Given the description of an element on the screen output the (x, y) to click on. 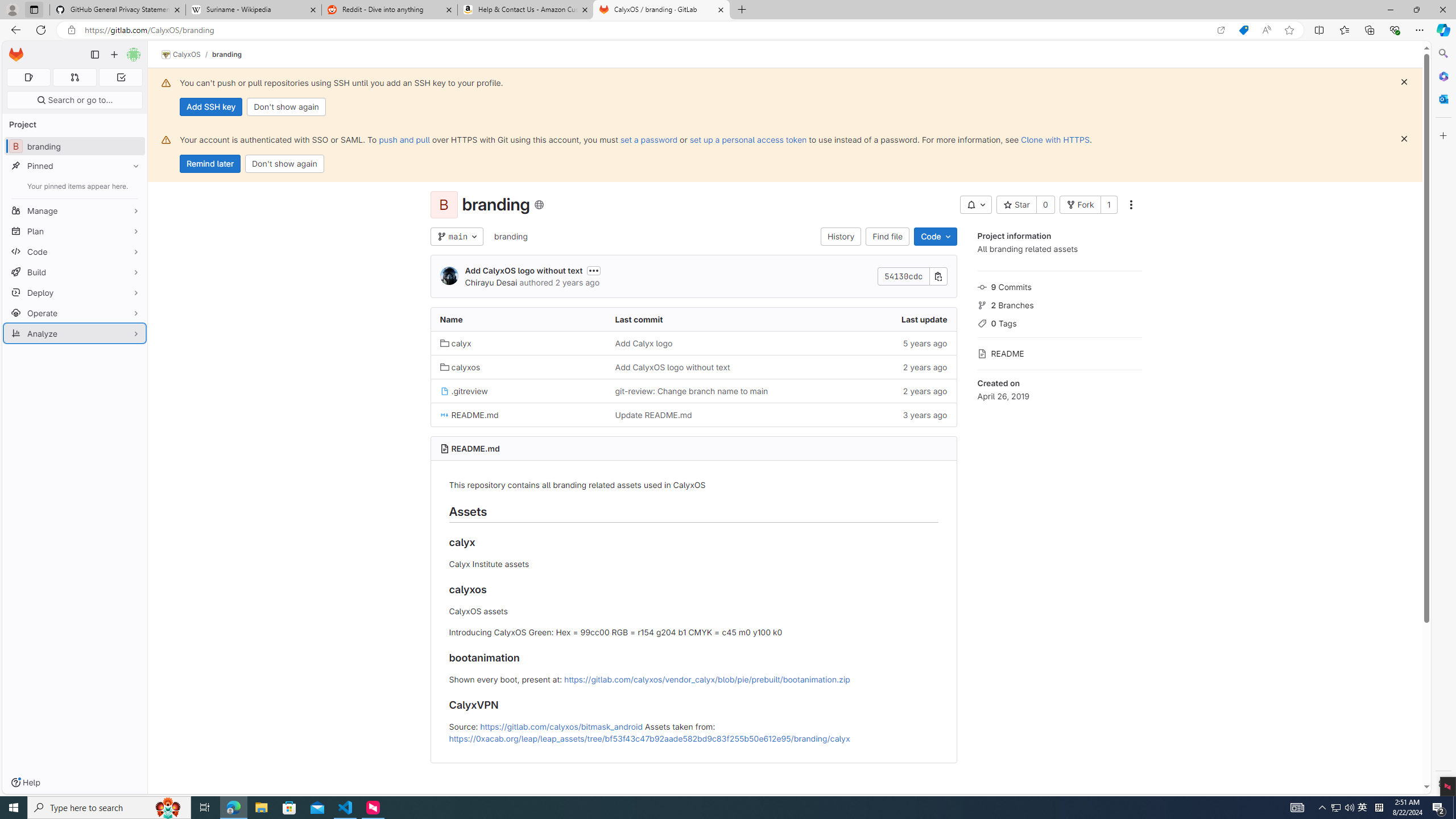
Manage (74, 210)
git-review: Change branch name to main (693, 390)
Build (74, 271)
3 years ago (868, 414)
Assigned issues 0 (28, 76)
Name (517, 319)
Deploy (74, 292)
Add CalyxOS logo without text (693, 366)
Chirayu Desai's avatar (448, 275)
Open in app (1220, 29)
Plan (74, 230)
